Given the description of an element on the screen output the (x, y) to click on. 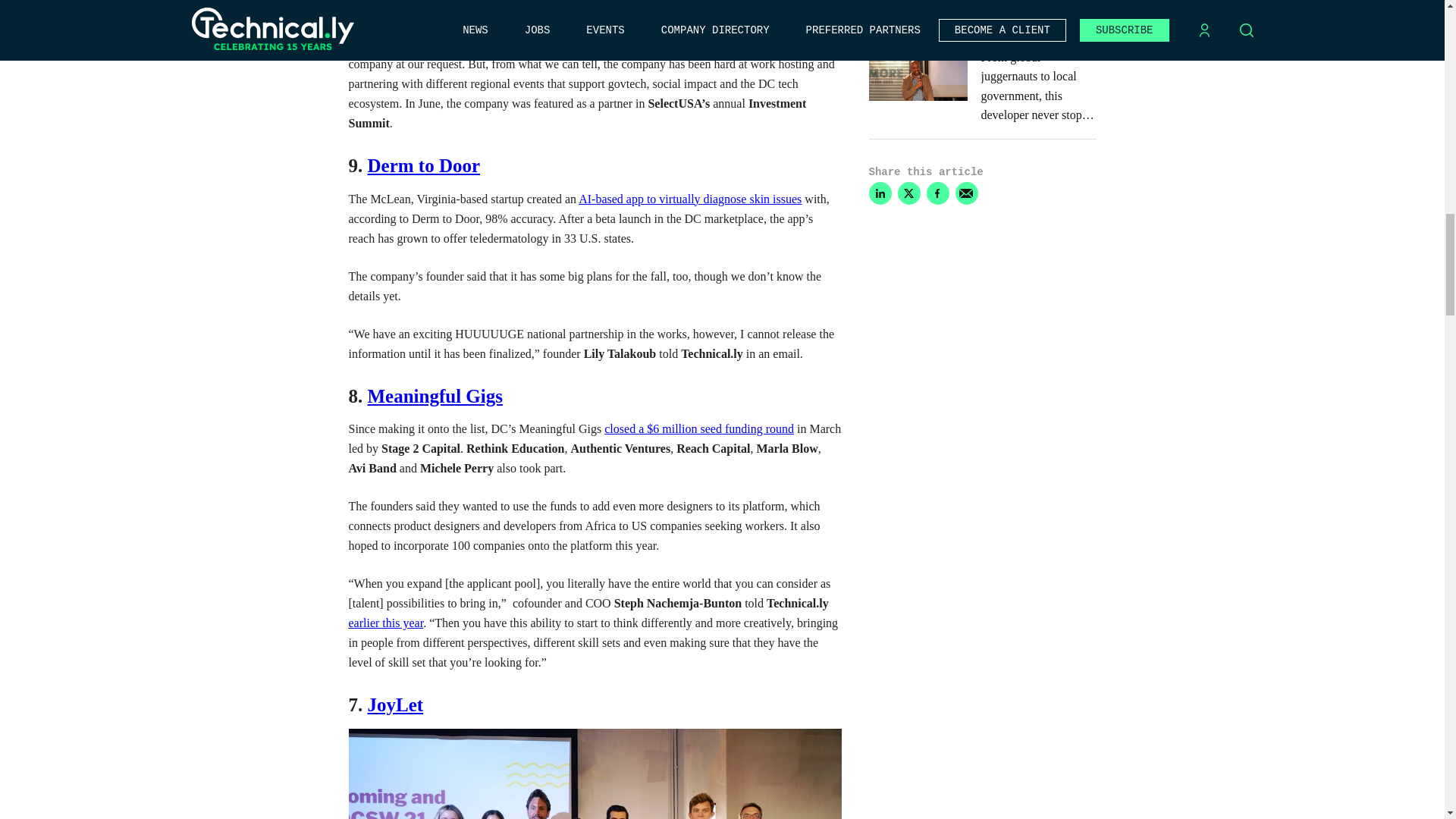
earlier this year (386, 622)
AI-based app to virtually diagnose skin issues (690, 198)
JoyLet (394, 704)
Derm to Door (423, 165)
Meaningful Gigs (434, 395)
